Given the description of an element on the screen output the (x, y) to click on. 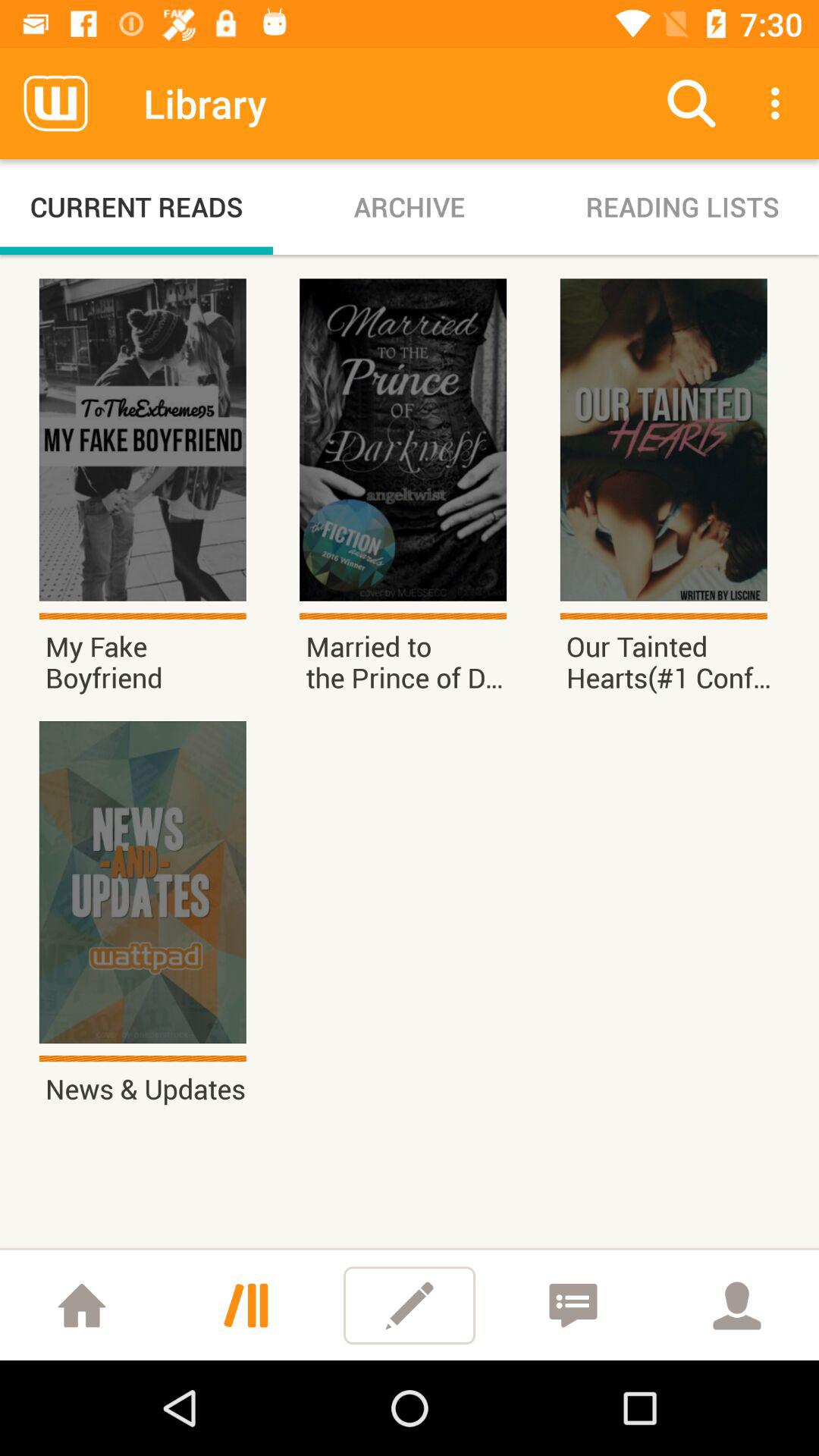
turn on the icon to the left of archive (136, 206)
